Given the description of an element on the screen output the (x, y) to click on. 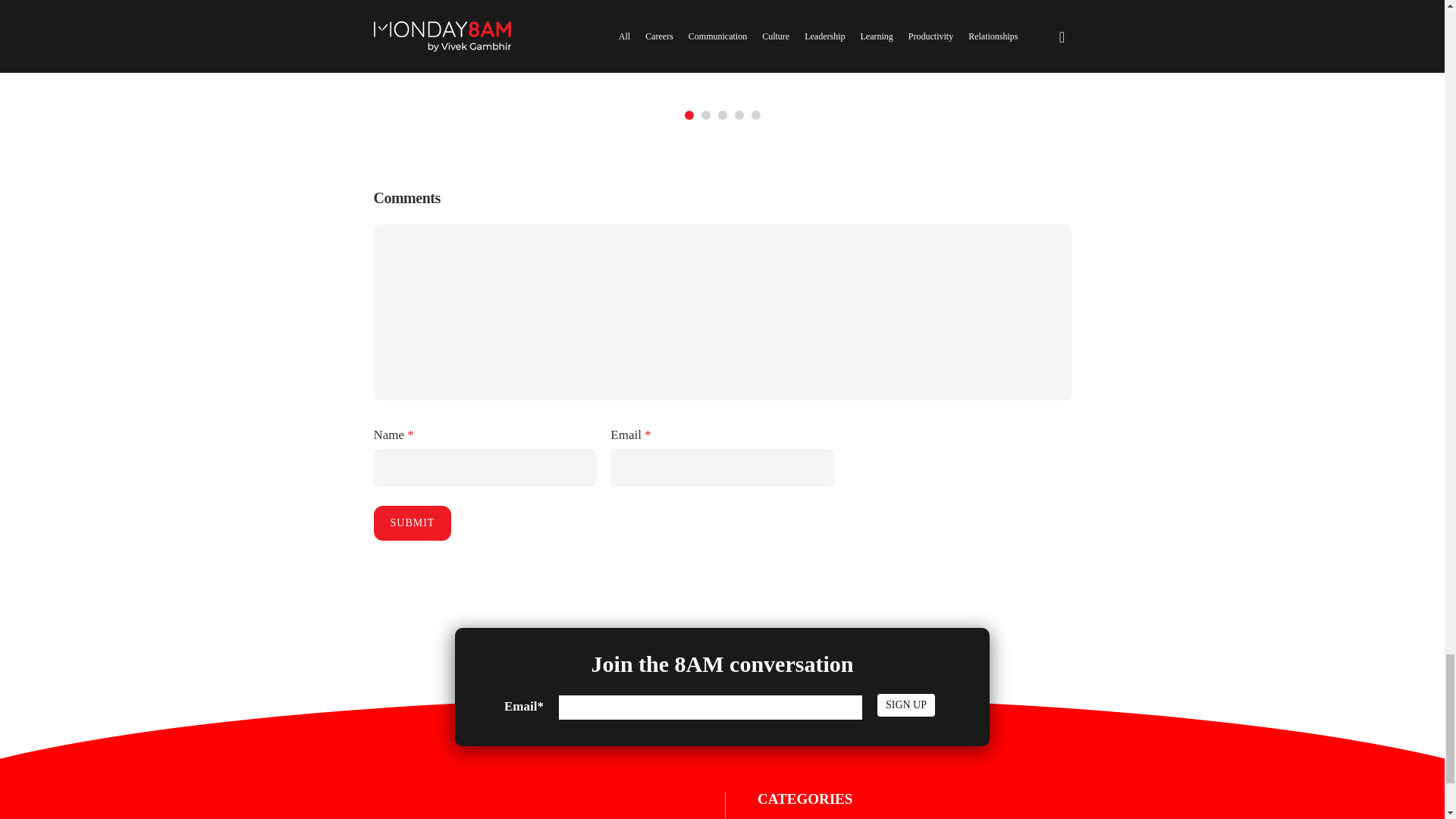
Sign Up (905, 704)
Careers (771, 816)
Submit (411, 523)
Submit (411, 523)
Sign Up (905, 704)
